Given the description of an element on the screen output the (x, y) to click on. 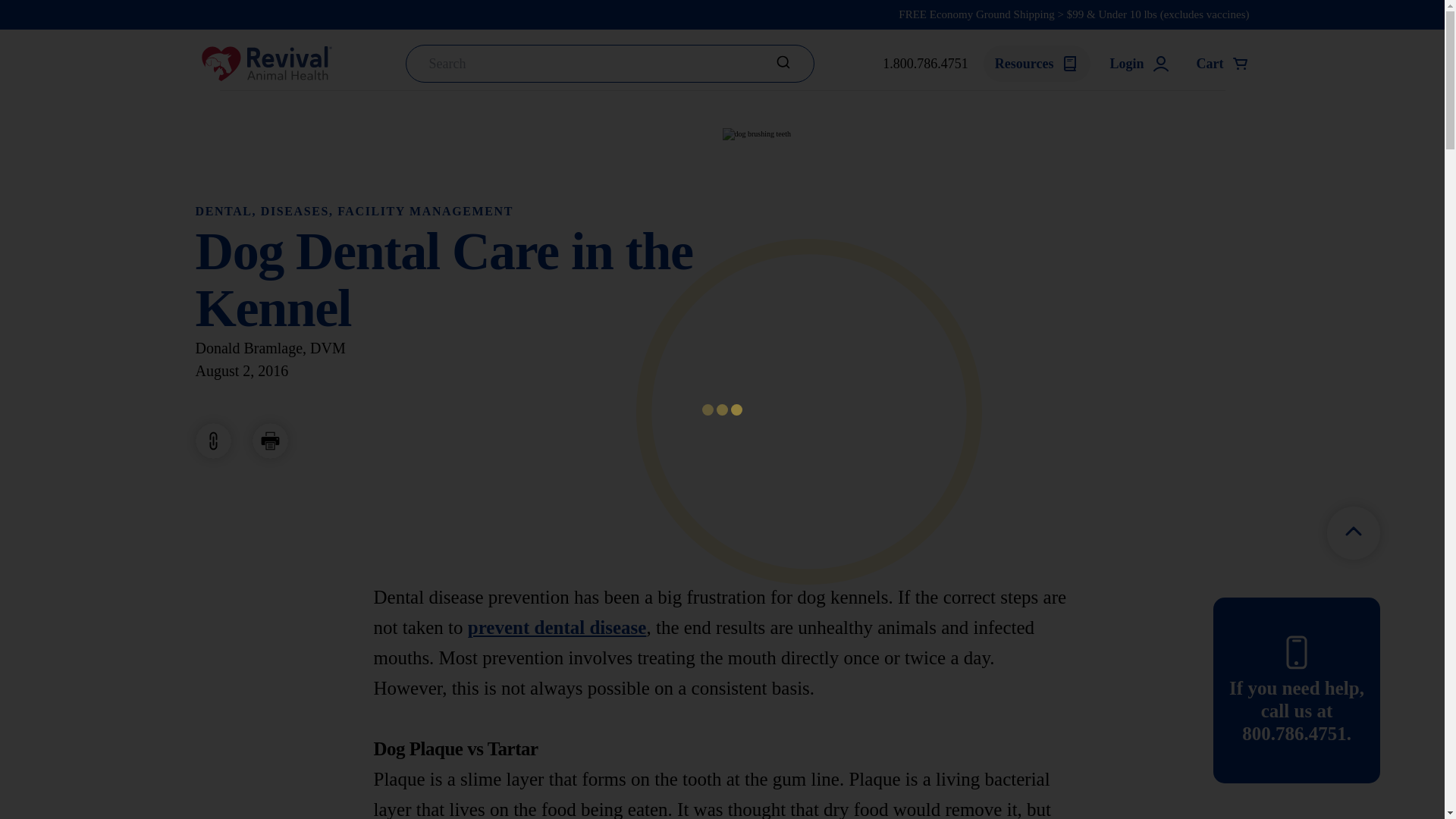
Resources (1037, 63)
1.800.786.4751 (925, 63)
Login (1139, 63)
Submit (783, 61)
